Given the description of an element on the screen output the (x, y) to click on. 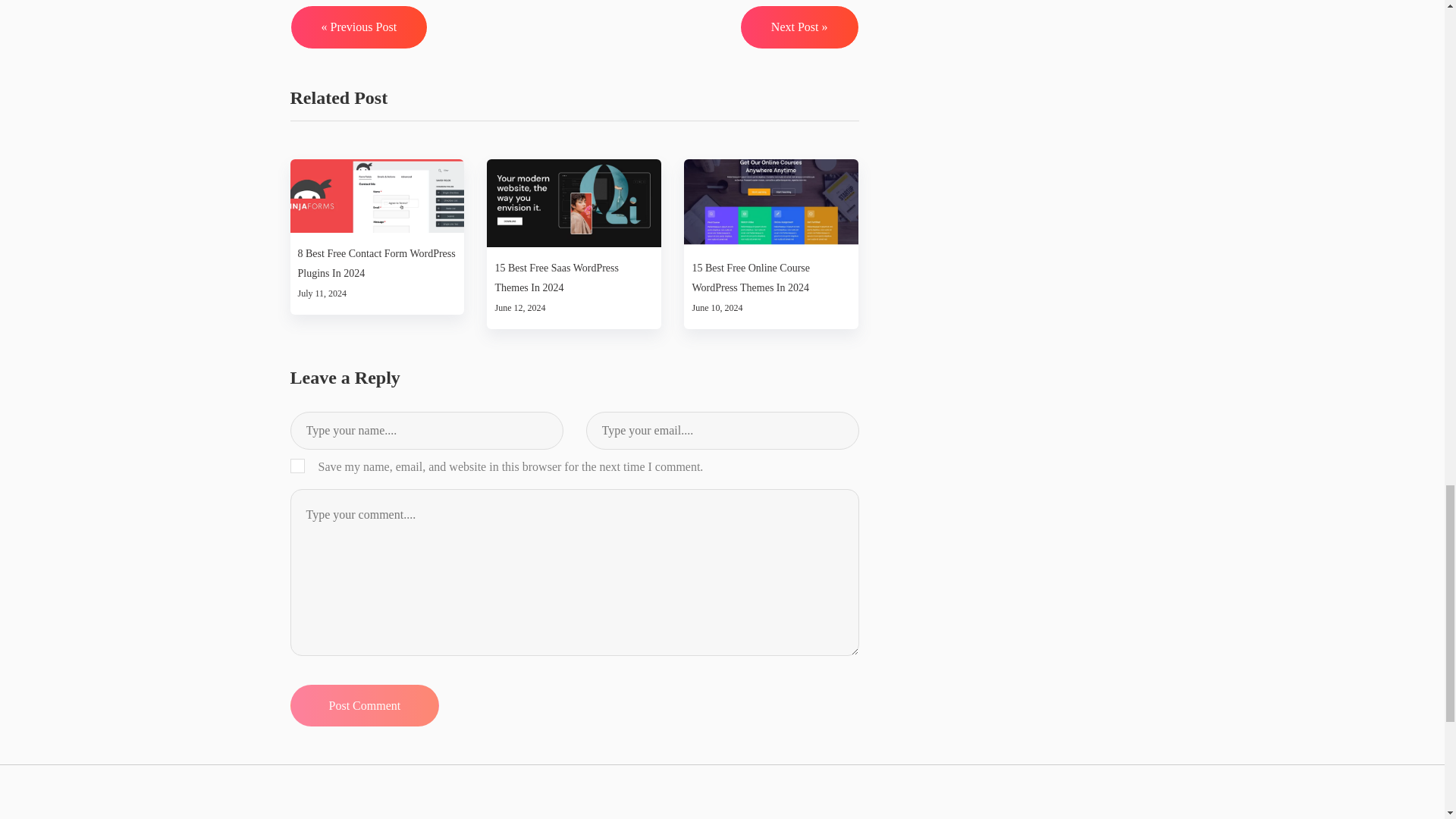
8 Best Free Contact Form WordPress Plugins In 2024 (377, 263)
yes (296, 465)
15 Best Free Saas WordPress Themes In 2024 (574, 278)
